Given the description of an element on the screen output the (x, y) to click on. 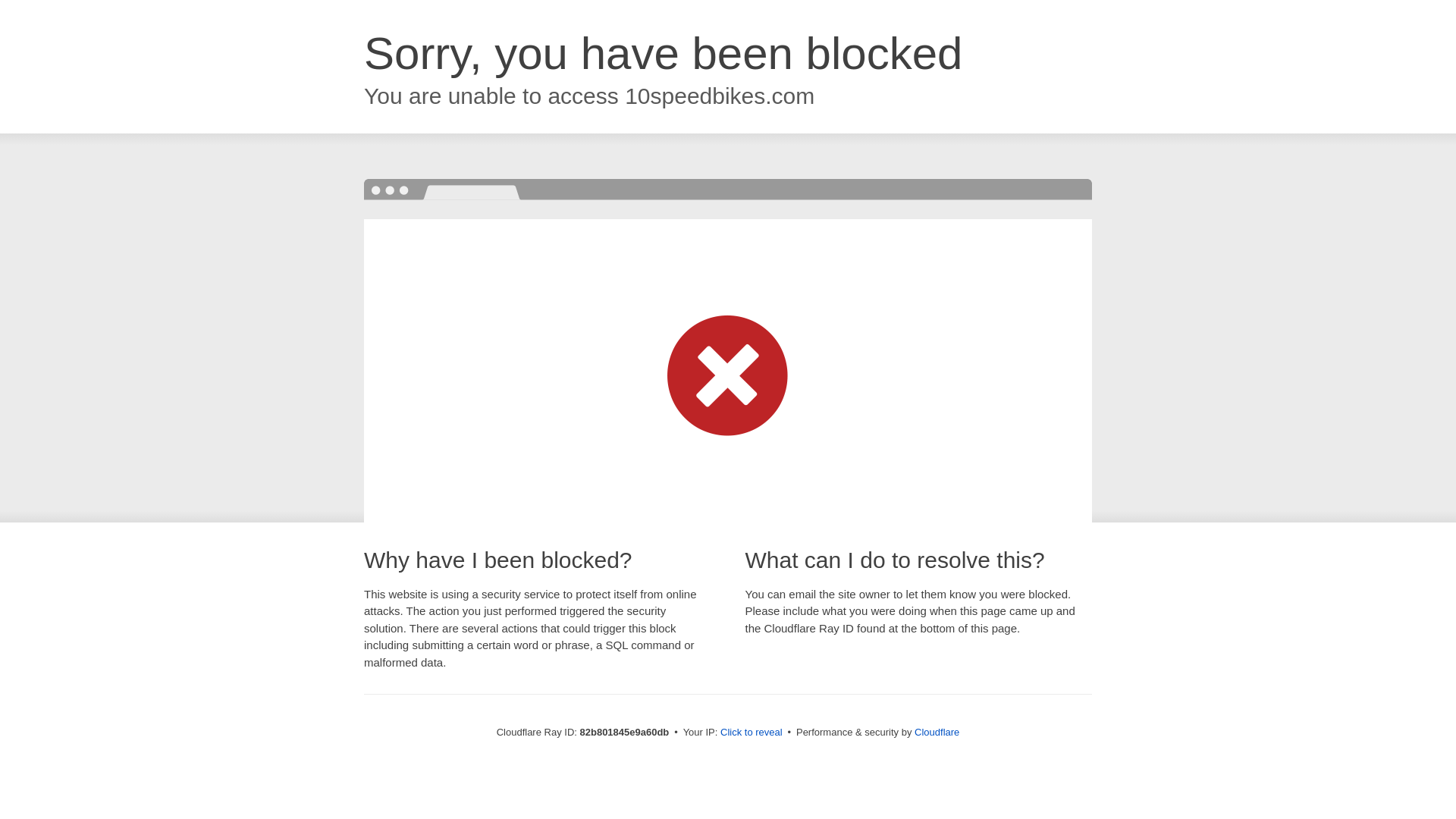
Click to reveal Element type: text (751, 732)
Cloudflare Element type: text (936, 731)
